Given the description of an element on the screen output the (x, y) to click on. 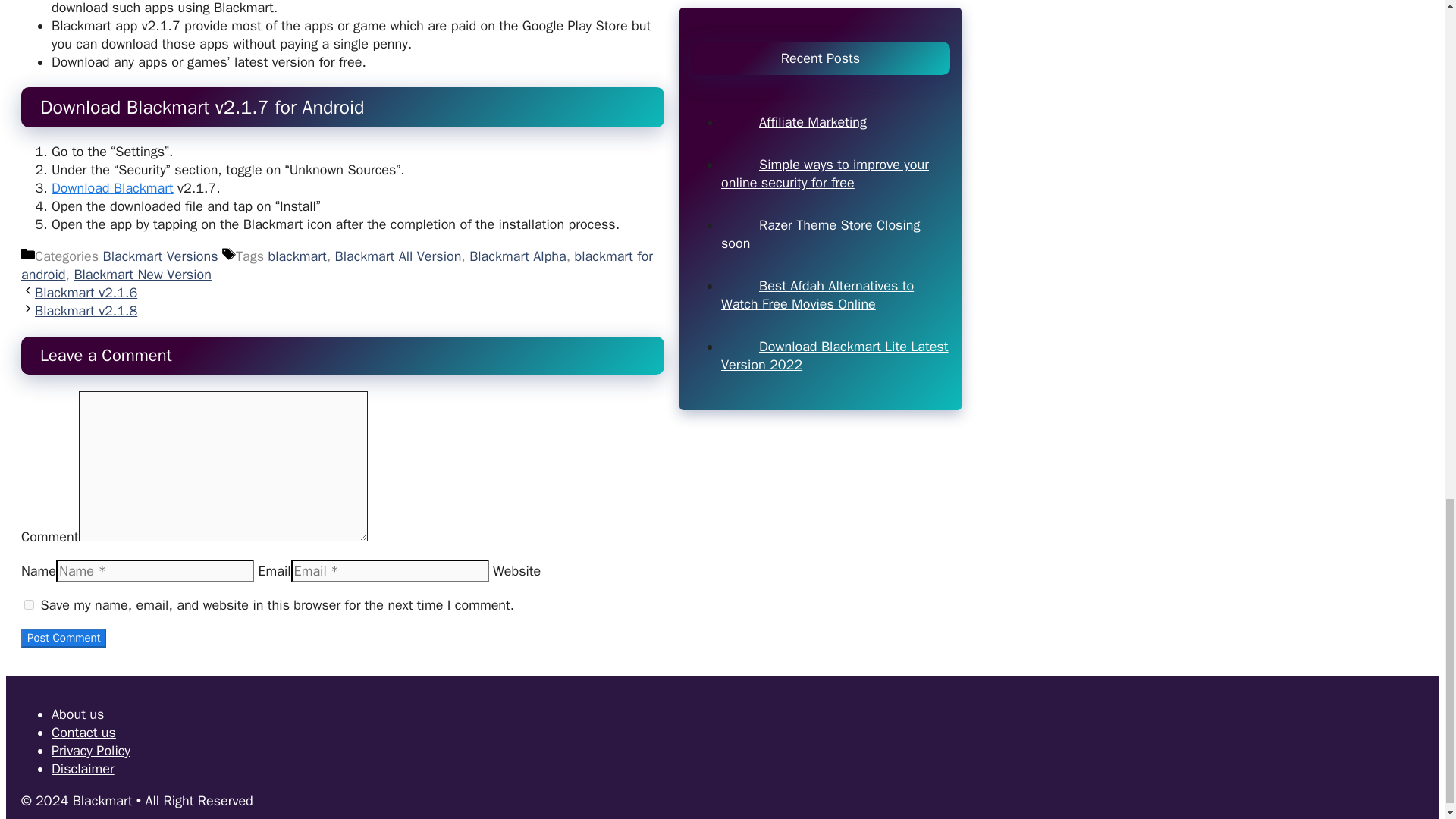
Disclaimer (82, 768)
Post Comment (63, 637)
blackmart for android (336, 265)
yes (28, 604)
blackmart (296, 256)
Blackmart v2.1.6 (85, 292)
Blackmart All Version (397, 256)
Contact us (83, 732)
Download Blackmart (111, 187)
Blackmart v2.1.8 (85, 310)
Privacy Policy (90, 750)
Scroll back to top (1406, 224)
About us (76, 713)
Post Comment (63, 637)
Blackmart Versions (160, 256)
